Given the description of an element on the screen output the (x, y) to click on. 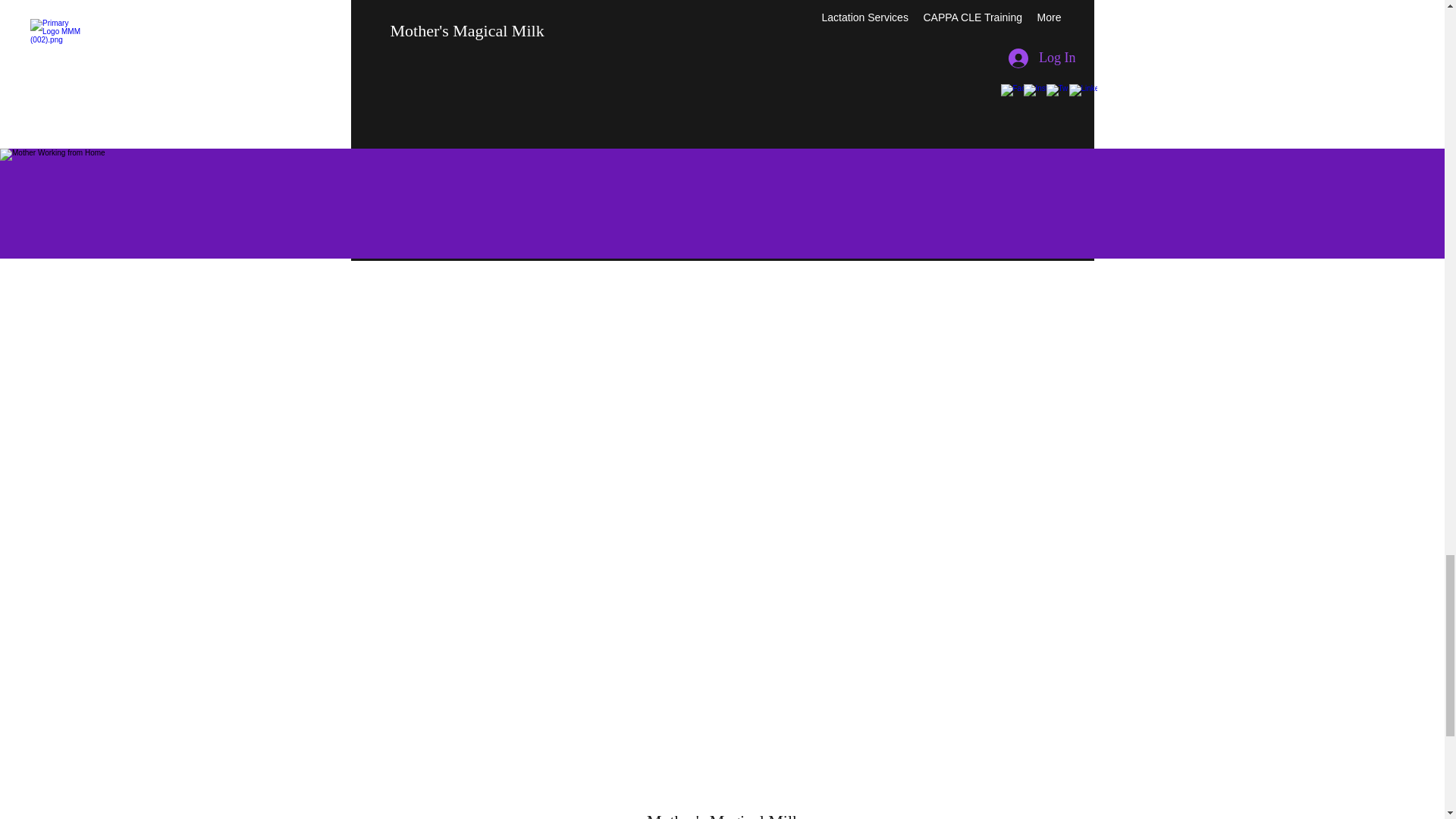
Mother's Magical Milk (723, 815)
